Given the description of an element on the screen output the (x, y) to click on. 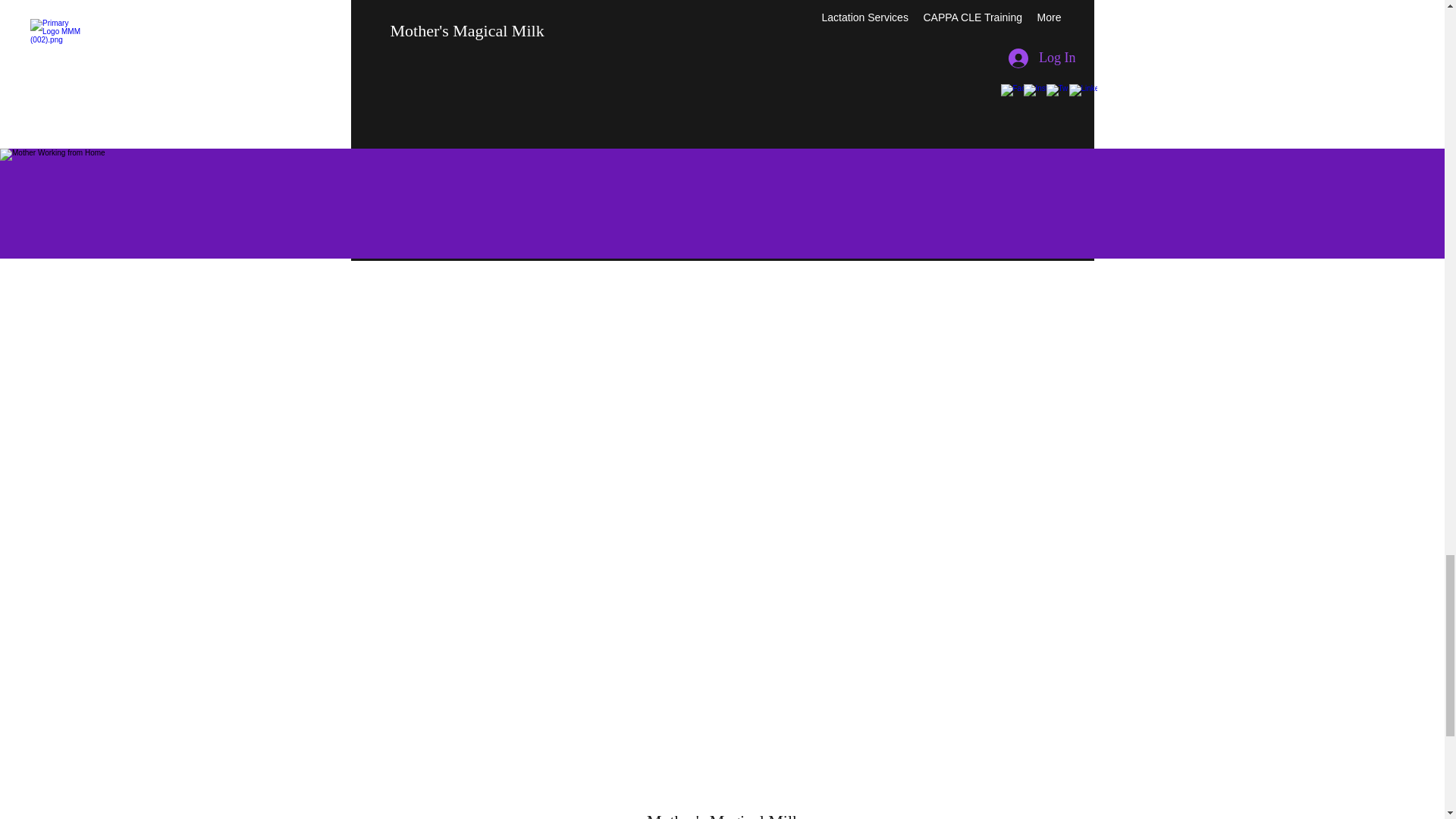
Mother's Magical Milk (723, 815)
